Given the description of an element on the screen output the (x, y) to click on. 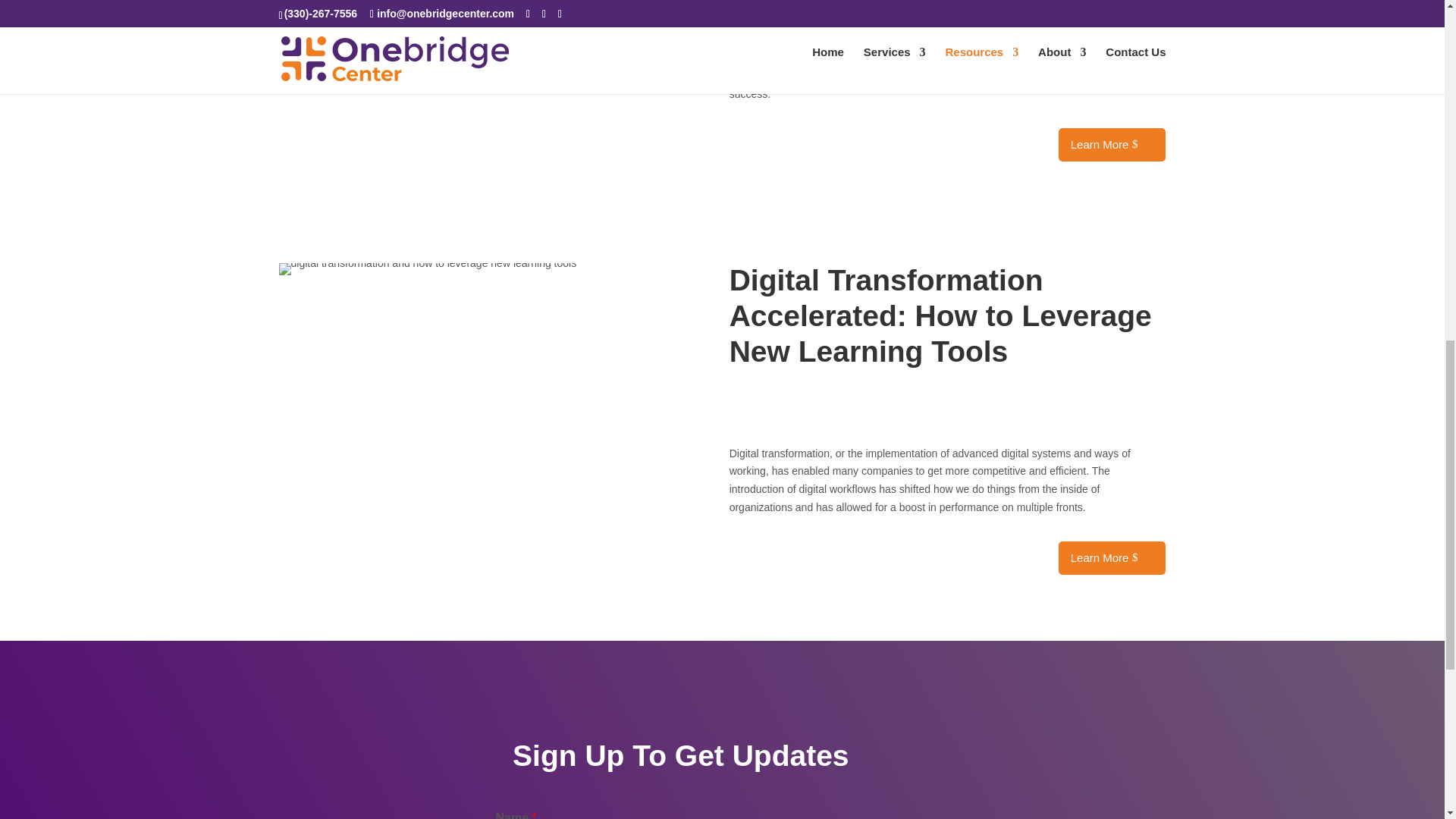
digital transformation image (427, 268)
Learn More (1112, 144)
Learn More (1112, 558)
